Given the description of an element on the screen output the (x, y) to click on. 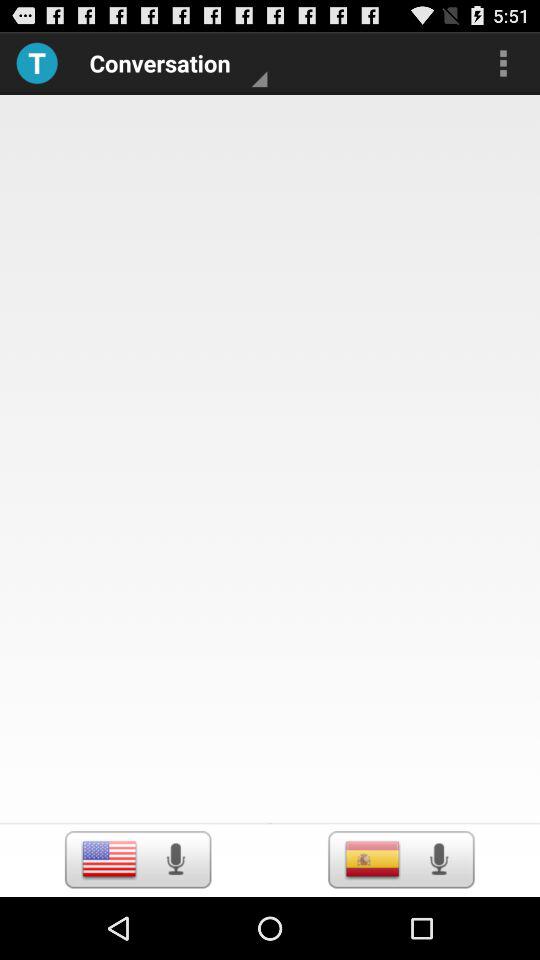
translate american voice (175, 859)
